Given the description of an element on the screen output the (x, y) to click on. 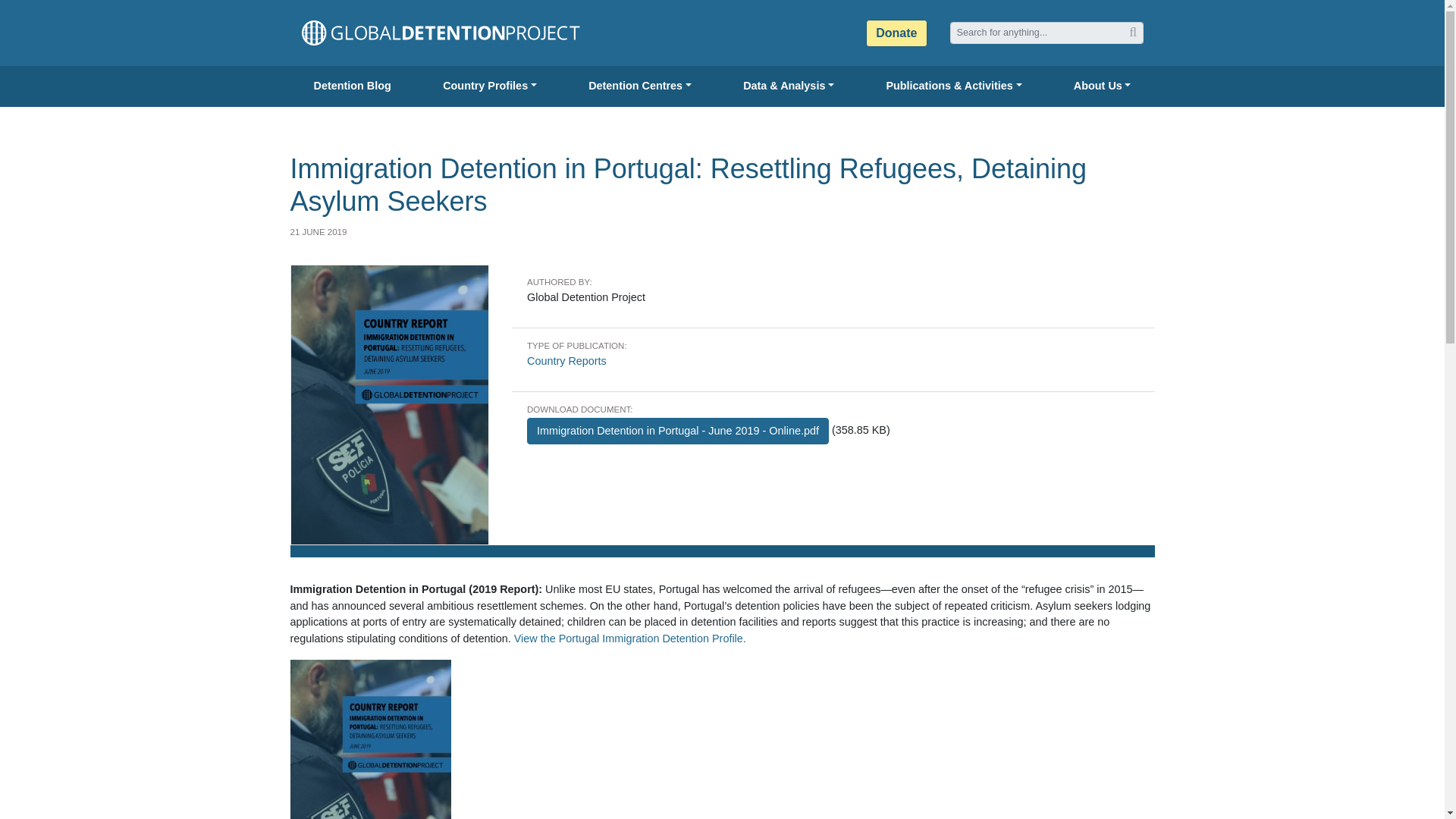
Detention Blog (352, 86)
Country Profiles (489, 86)
Donate (896, 32)
